Given the description of an element on the screen output the (x, y) to click on. 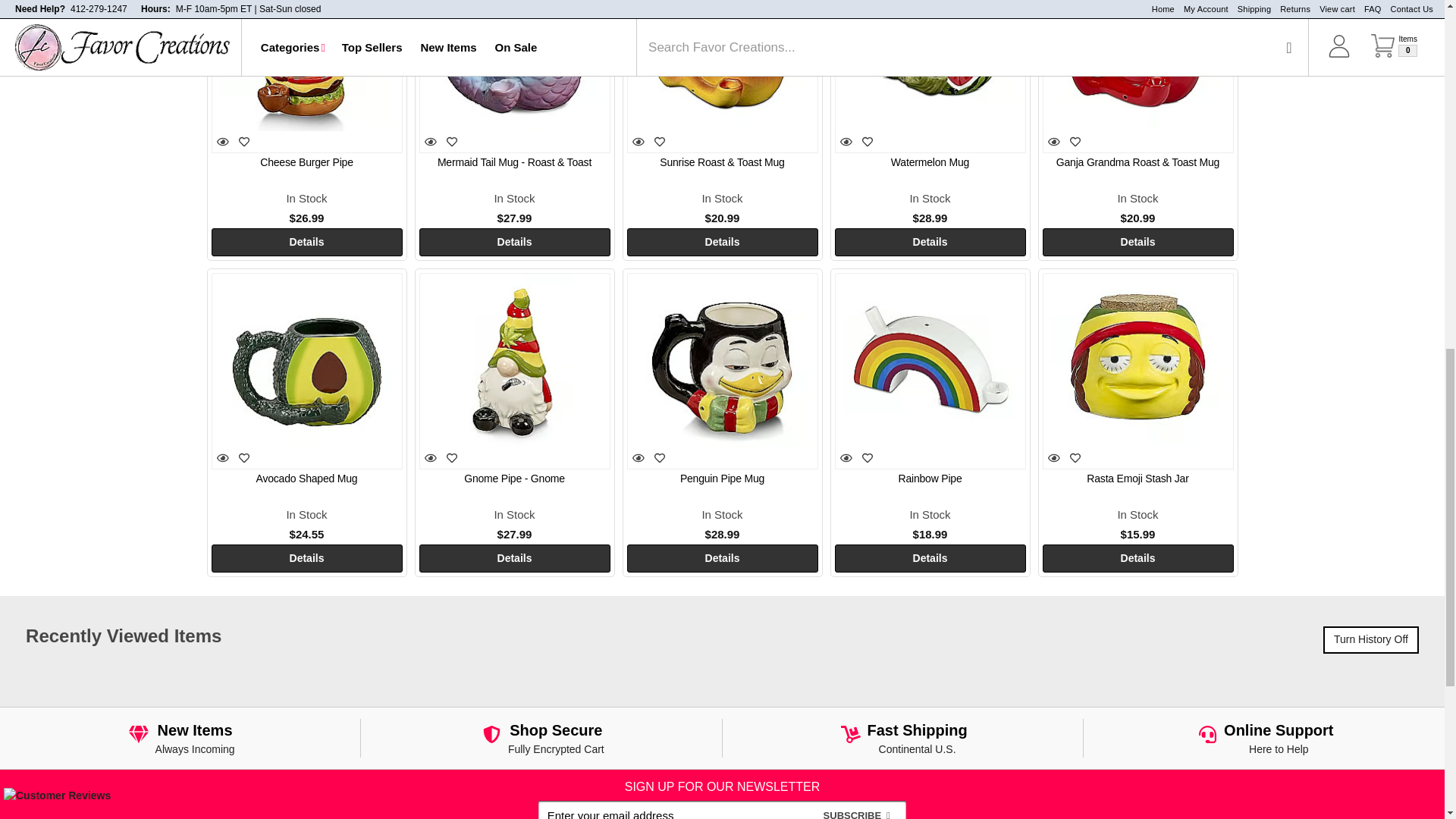
Wish List (243, 142)
Quick View (430, 141)
Quick View (222, 141)
